Given the description of an element on the screen output the (x, y) to click on. 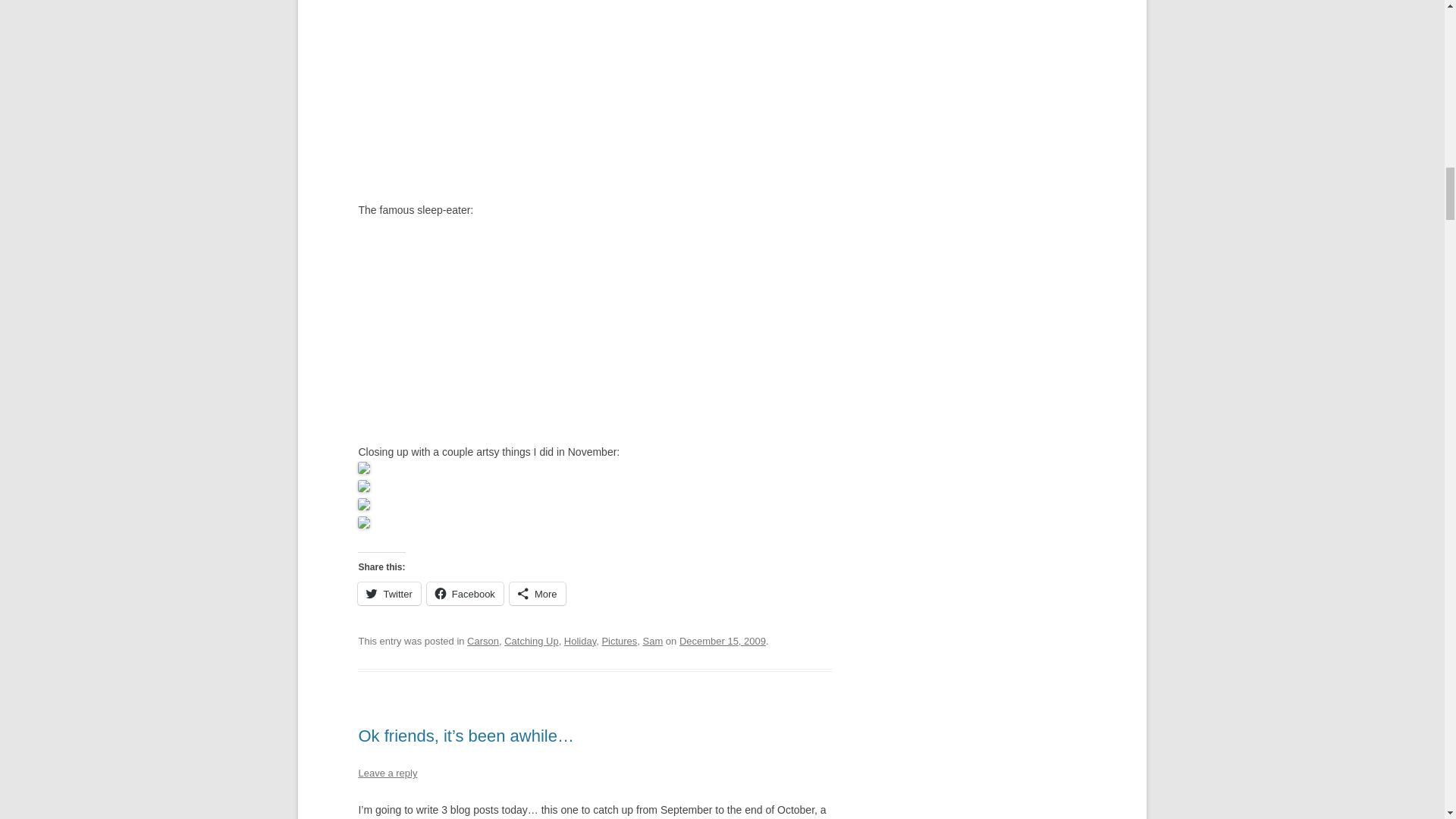
Click to share on Facebook (464, 593)
Click to share on Twitter (389, 593)
